Given the description of an element on the screen output the (x, y) to click on. 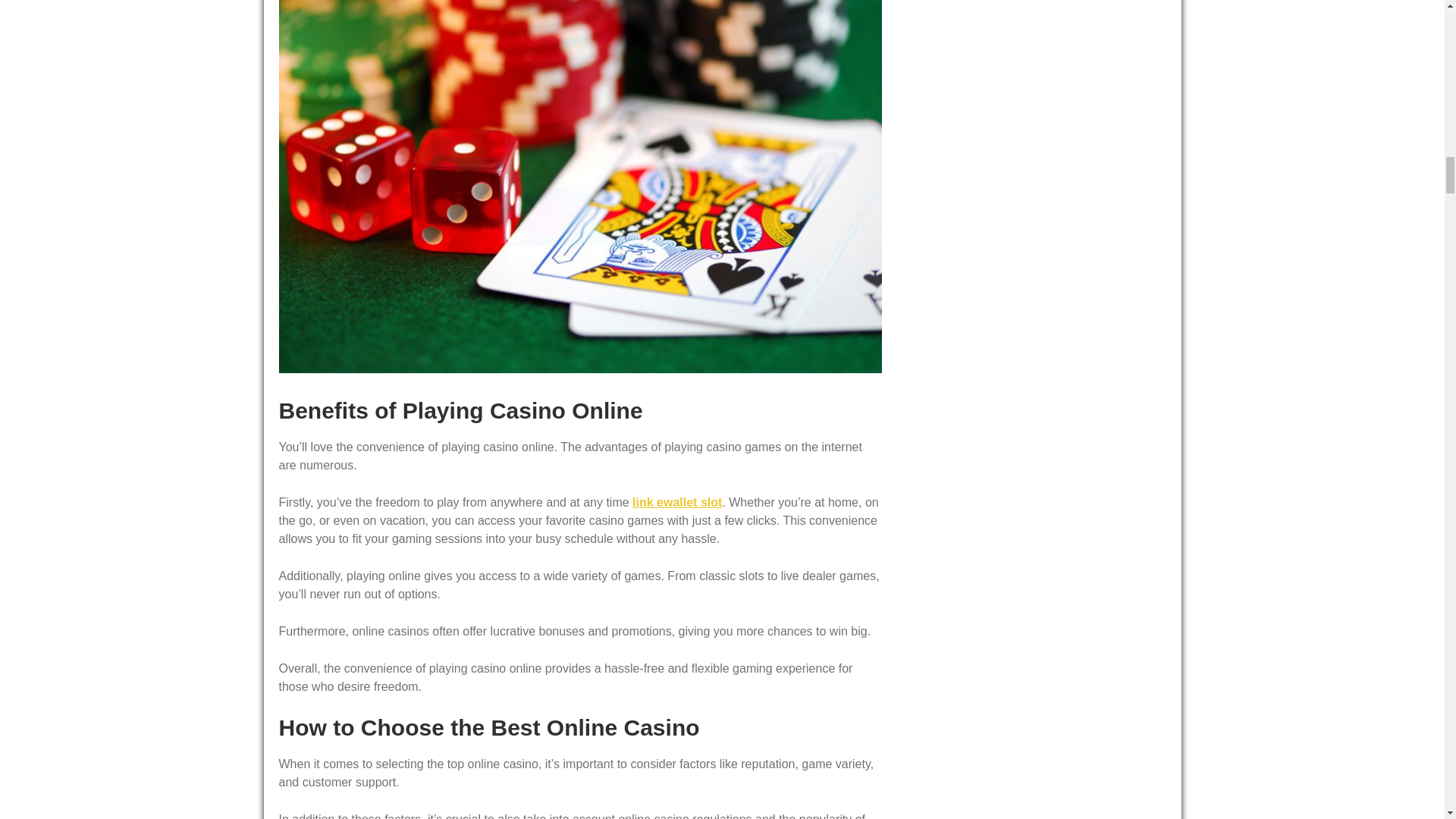
link ewallet slot (676, 502)
